Given the description of an element on the screen output the (x, y) to click on. 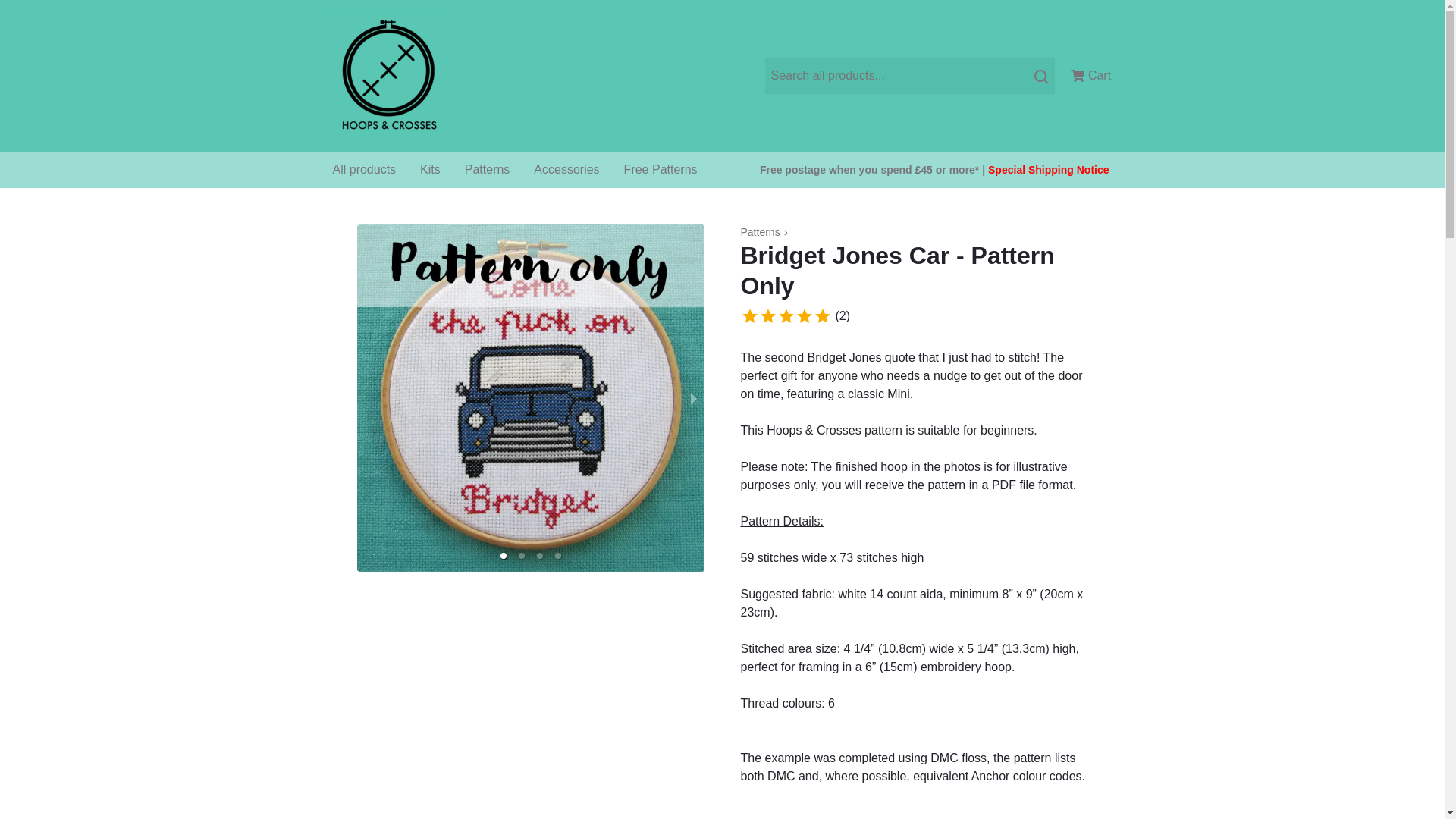
Cart (1089, 75)
Free Patterns (660, 169)
Patterns (758, 232)
Skip to content (47, 20)
Accessories (566, 169)
Kits (429, 169)
All products (363, 169)
Patterns (487, 169)
Special Shipping Notice (1048, 169)
